Given the description of an element on the screen output the (x, y) to click on. 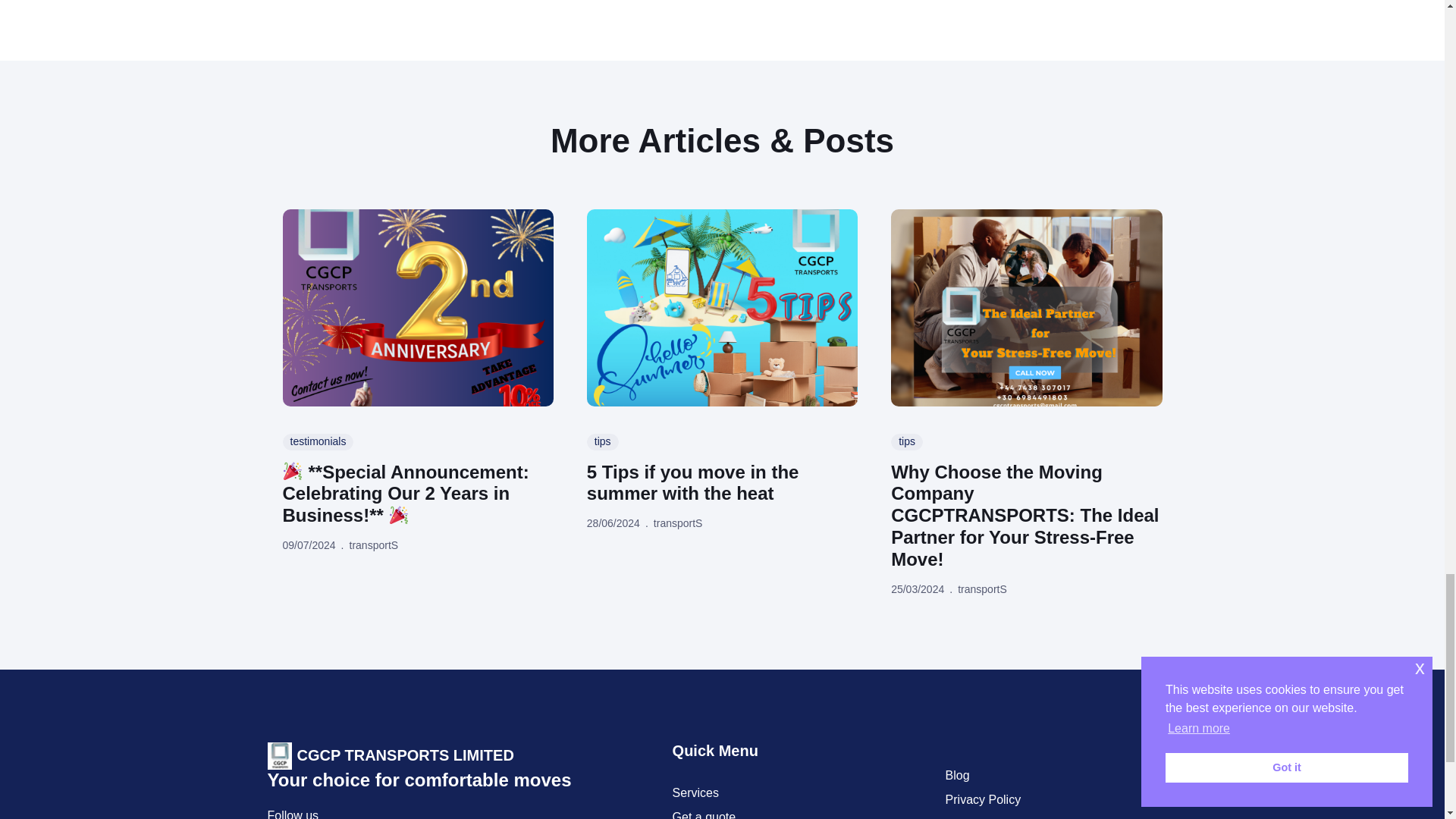
5 Tips if you move in the summer with the heat (721, 483)
testimonials (317, 442)
tips (907, 442)
tips (602, 442)
